Given the description of an element on the screen output the (x, y) to click on. 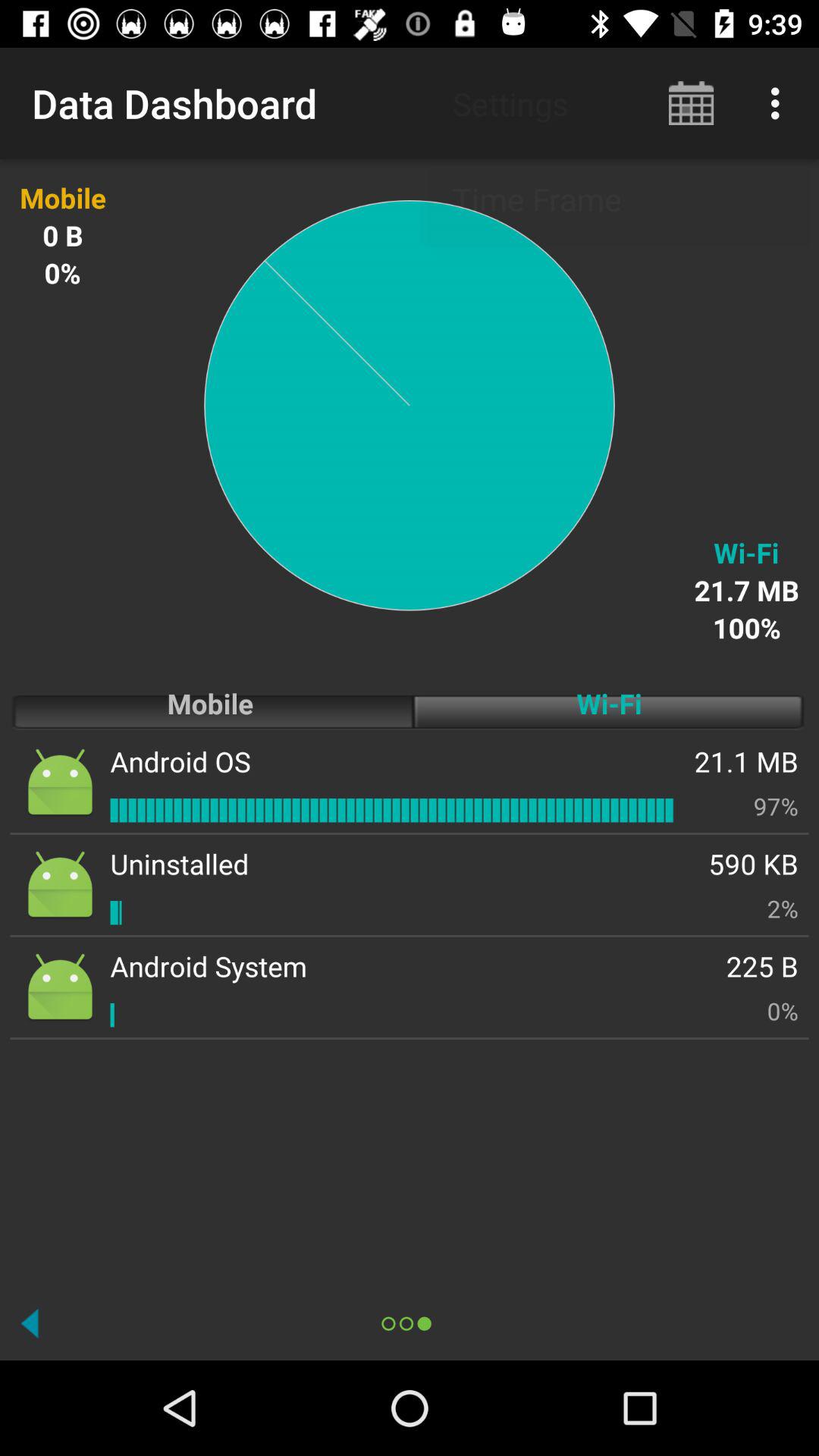
open app above the 2% (753, 863)
